Given the description of an element on the screen output the (x, y) to click on. 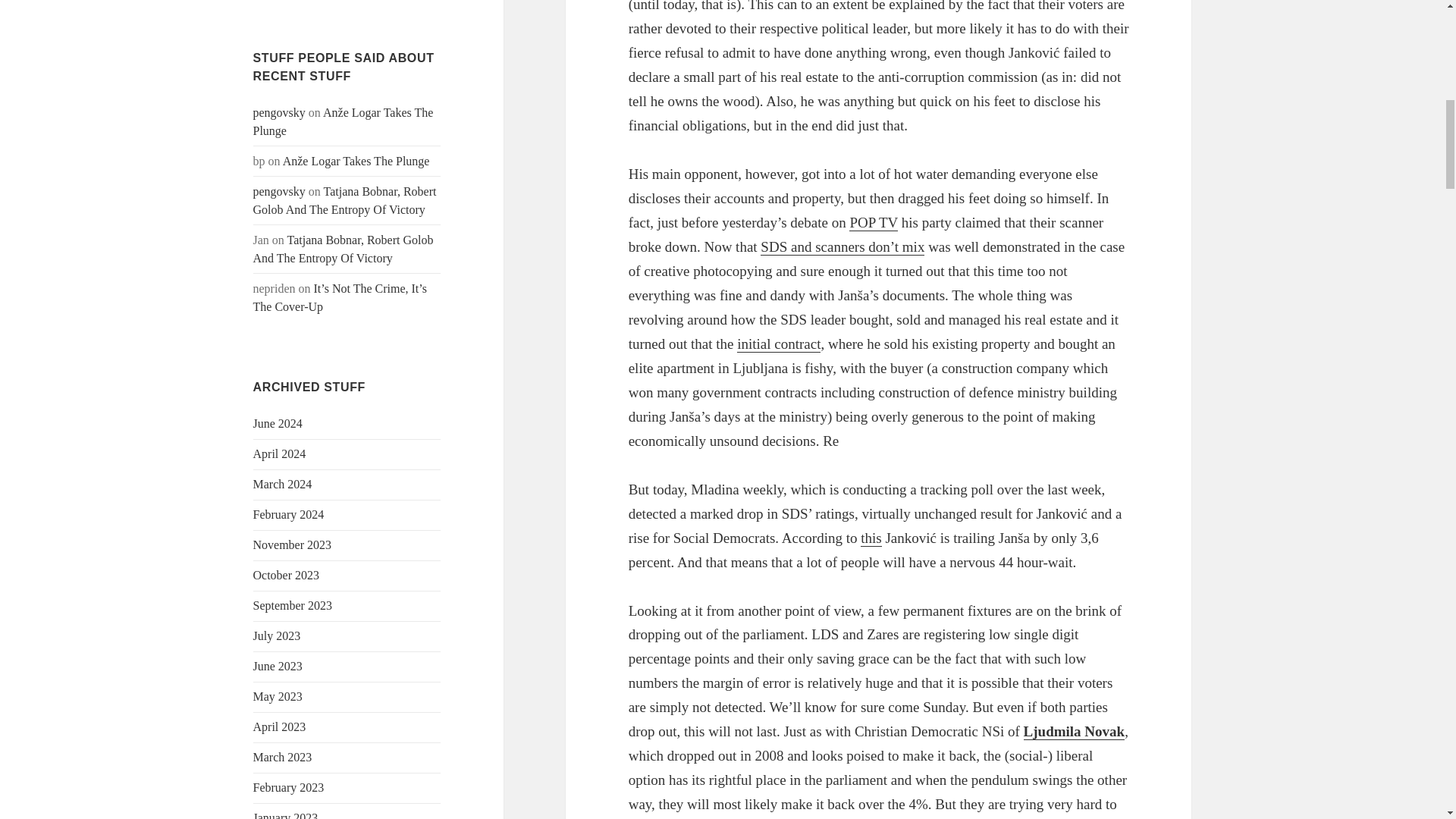
June 2023 (277, 666)
April 2023 (279, 726)
October 2023 (286, 574)
May 2023 (277, 696)
March 2024 (283, 483)
November 2023 (292, 544)
Tatjana Bobnar, Robert Golob And The Entropy Of Victory (343, 248)
February 2023 (288, 787)
July 2023 (277, 635)
February 2024 (288, 513)
Ljudmila Novak (1074, 731)
September 2023 (292, 604)
pengovsky (279, 112)
June 2024 (277, 422)
January 2023 (285, 815)
